Given the description of an element on the screen output the (x, y) to click on. 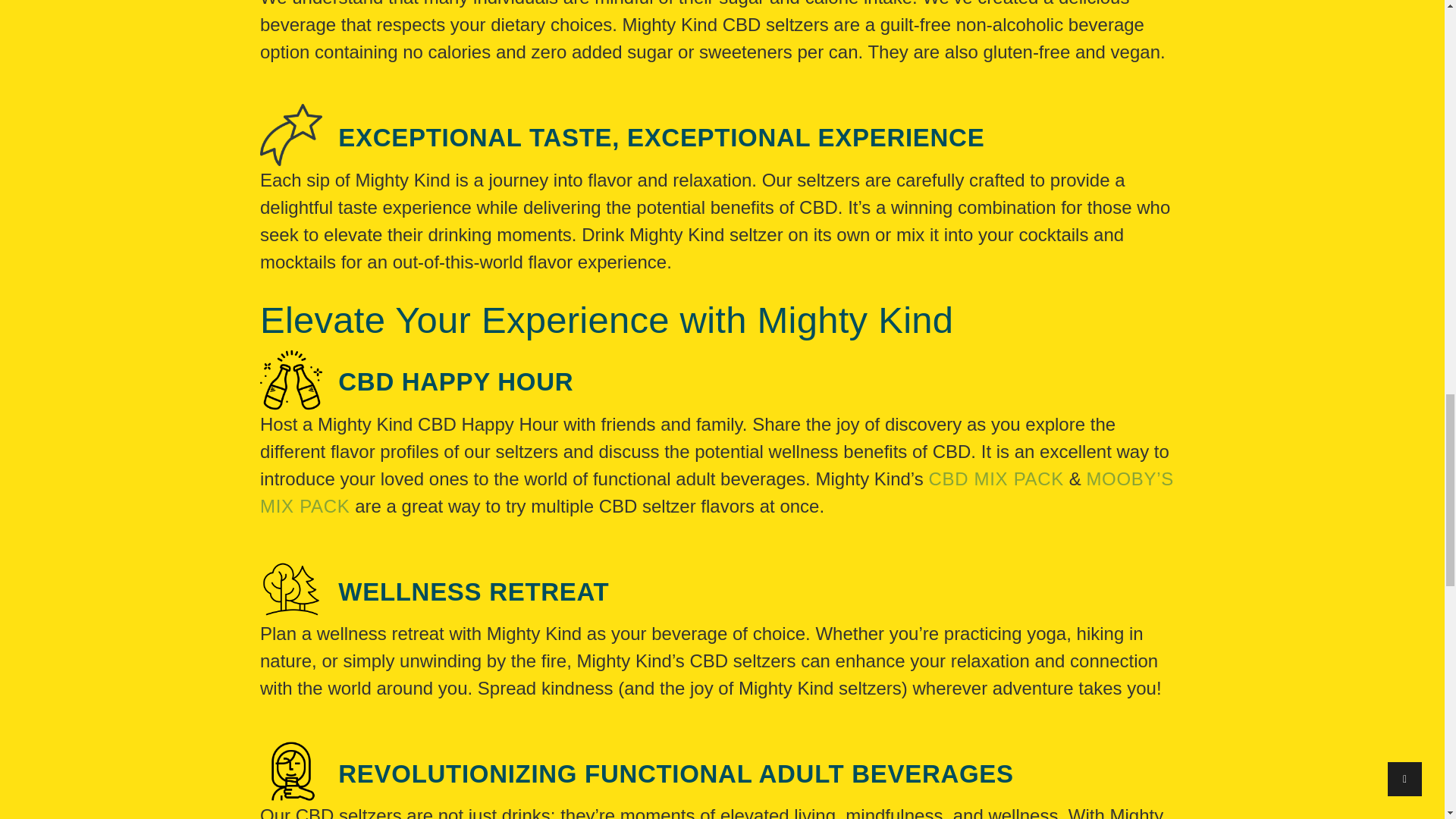
CBD MIX PACK (996, 478)
